Given the description of an element on the screen output the (x, y) to click on. 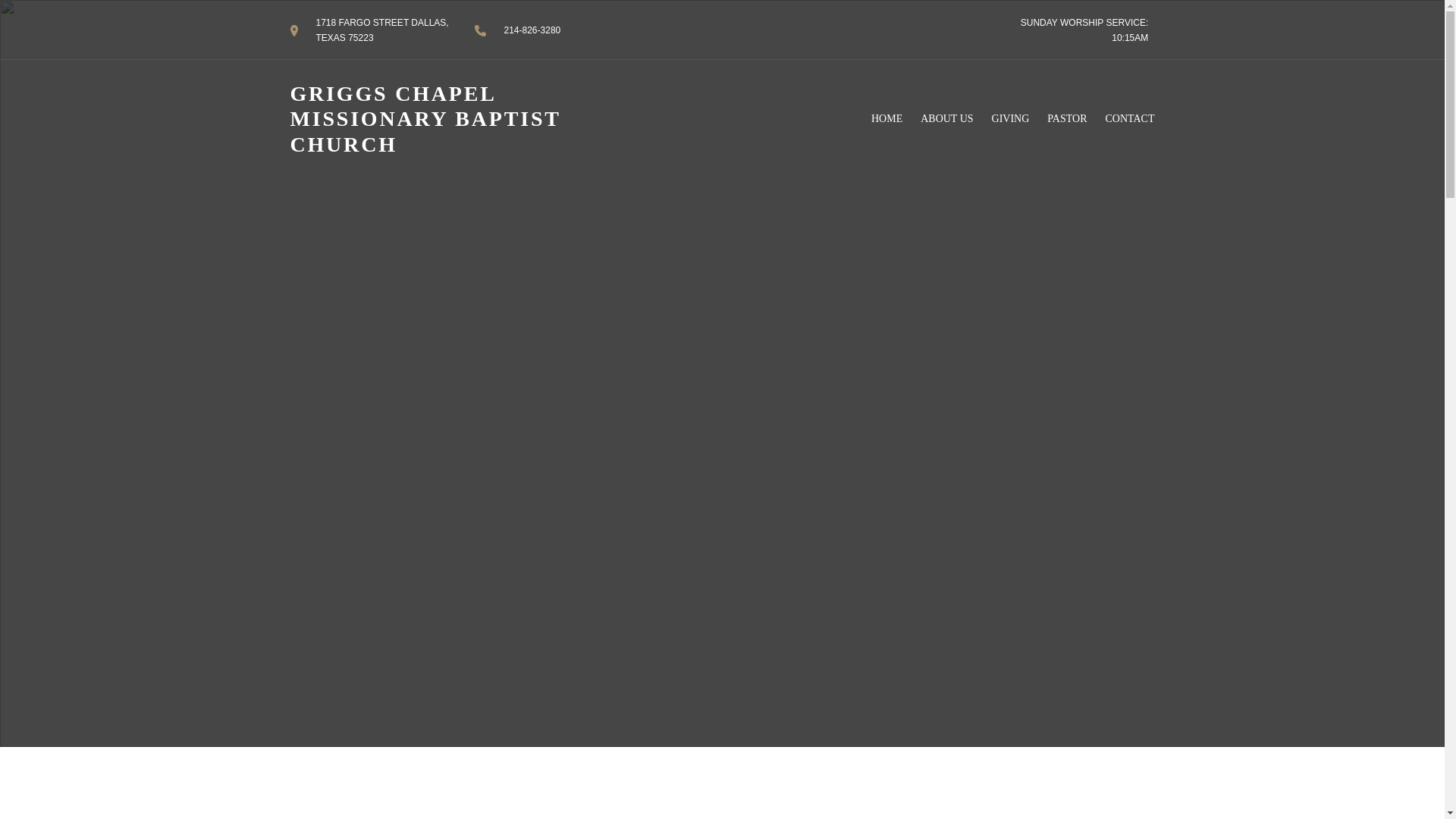
HOME (886, 118)
PASTOR (1066, 118)
CONTACT (1129, 118)
GIVING (1010, 118)
ABOUT US (946, 118)
